Given the description of an element on the screen output the (x, y) to click on. 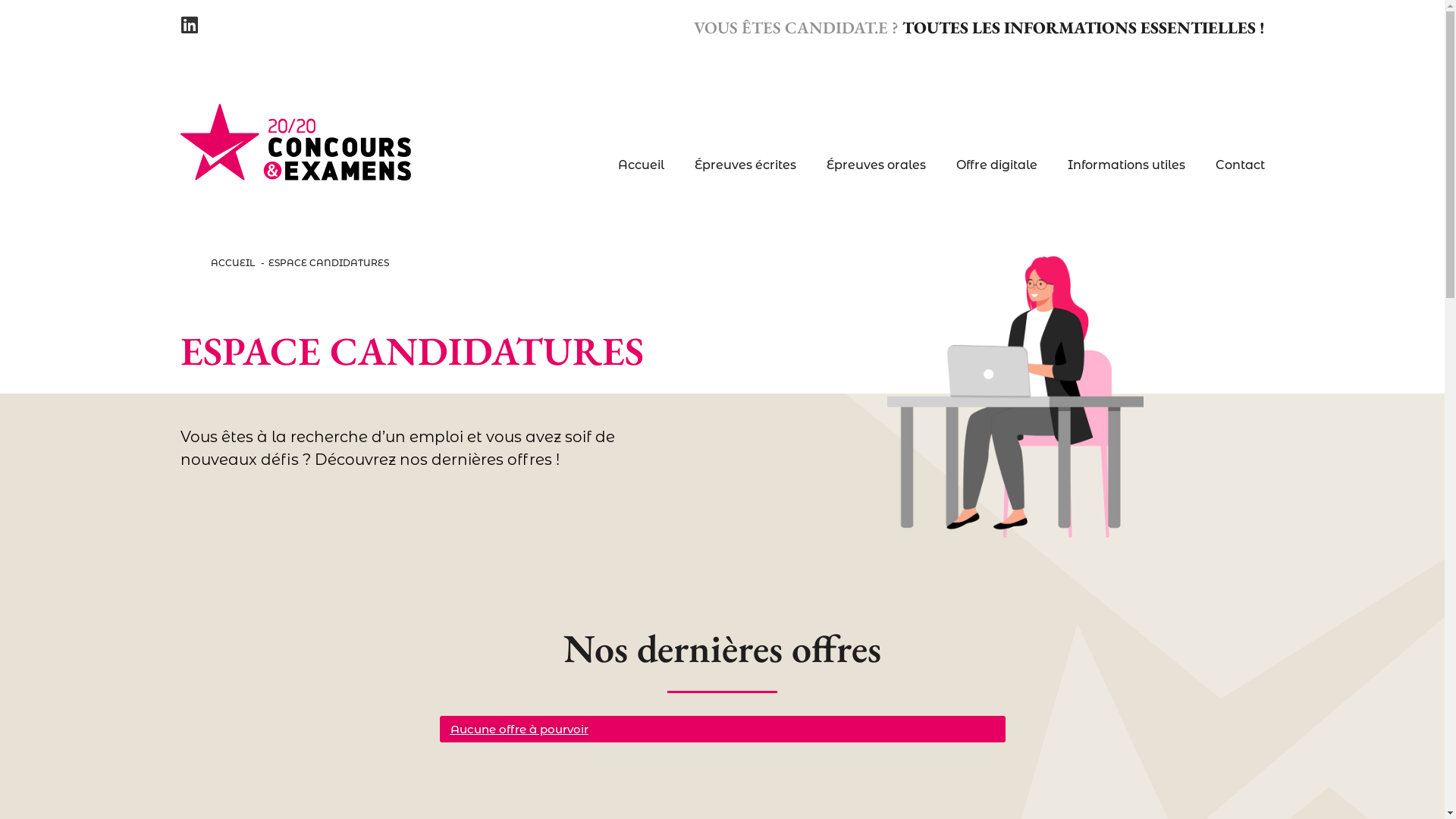
ACCUEIL Element type: text (232, 262)
Informations utiles Element type: text (1126, 165)
Accueil Element type: text (640, 165)
Contact Element type: text (1239, 165)
Offre digitale Element type: text (995, 165)
TOUTES LES INFORMATIONS ESSENTIELLES ! Element type: text (1083, 27)
